Given the description of an element on the screen output the (x, y) to click on. 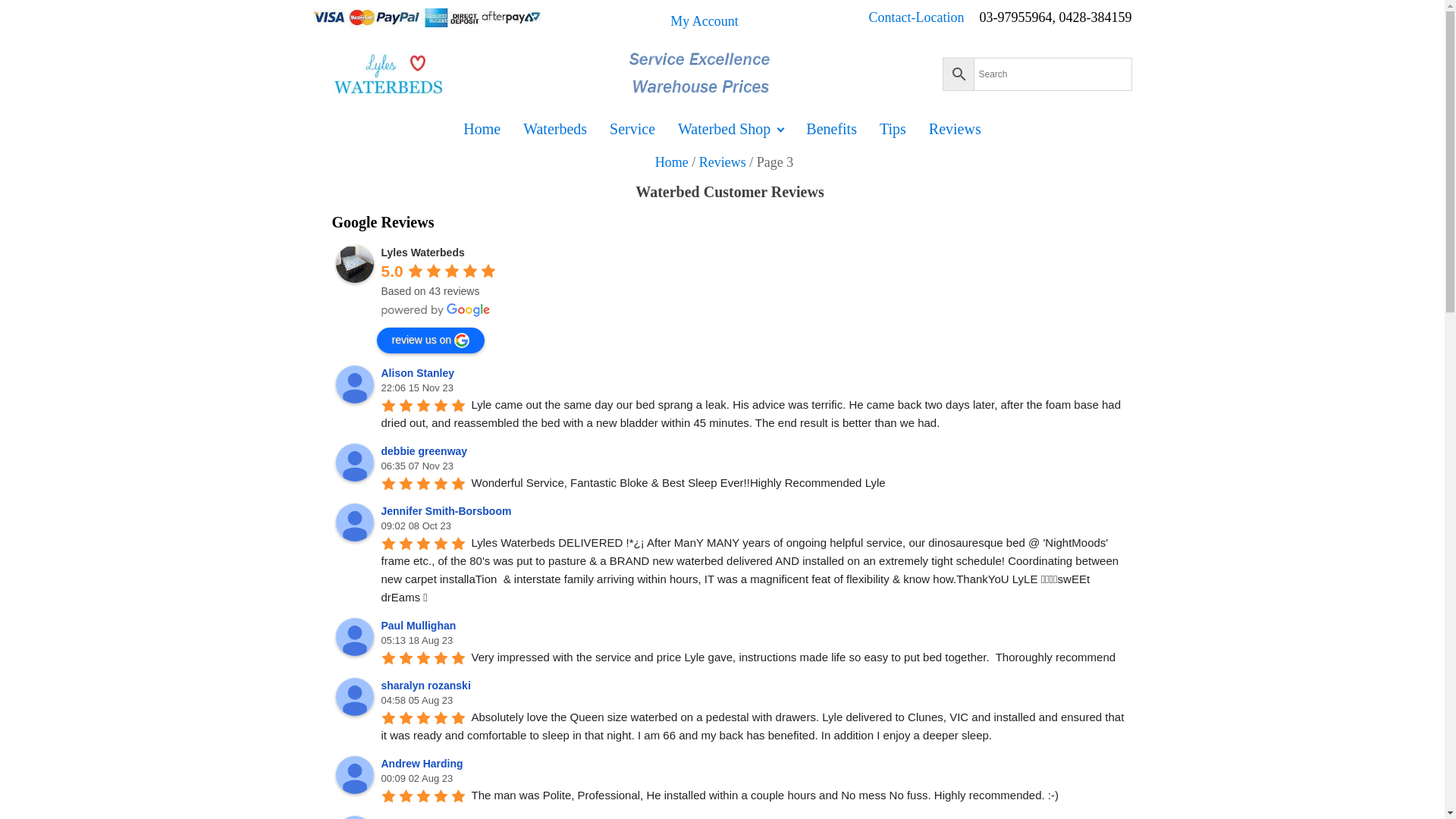
Home Element type: text (671, 161)
Home Element type: text (481, 128)
Jennifer Smith-Borsboom Element type: text (447, 511)
debbie greenway Element type: hover (354, 462)
My Account Element type: text (704, 21)
Reviews Element type: text (954, 128)
powered by Google Element type: hover (434, 309)
Jennifer Smith-Borsboom Element type: hover (354, 522)
review us on Element type: text (430, 340)
Alison Stanley Element type: hover (354, 384)
Service Element type: text (632, 128)
Paul Mullighan Element type: text (420, 625)
Lyles Waterbeds Element type: hover (354, 263)
Alison Stanley Element type: text (419, 373)
03-97955964, 0428-384159 Element type: text (1055, 21)
Waterbeds Element type: text (554, 128)
Paul Mullighan Element type: hover (354, 636)
sharalyn rozanski Element type: text (427, 685)
Benefits Element type: text (831, 128)
Andrew Harding Element type: text (423, 763)
debbie greenway Element type: text (425, 451)
sharalyn rozanski Element type: hover (354, 696)
Waterbed Shop Element type: text (730, 128)
Andrew Harding Element type: hover (354, 774)
Tips Element type: text (892, 128)
Lyles Waterbeds Element type: text (422, 252)
Reviews Element type: text (722, 161)
Contact-Location Element type: text (924, 21)
